Given the description of an element on the screen output the (x, y) to click on. 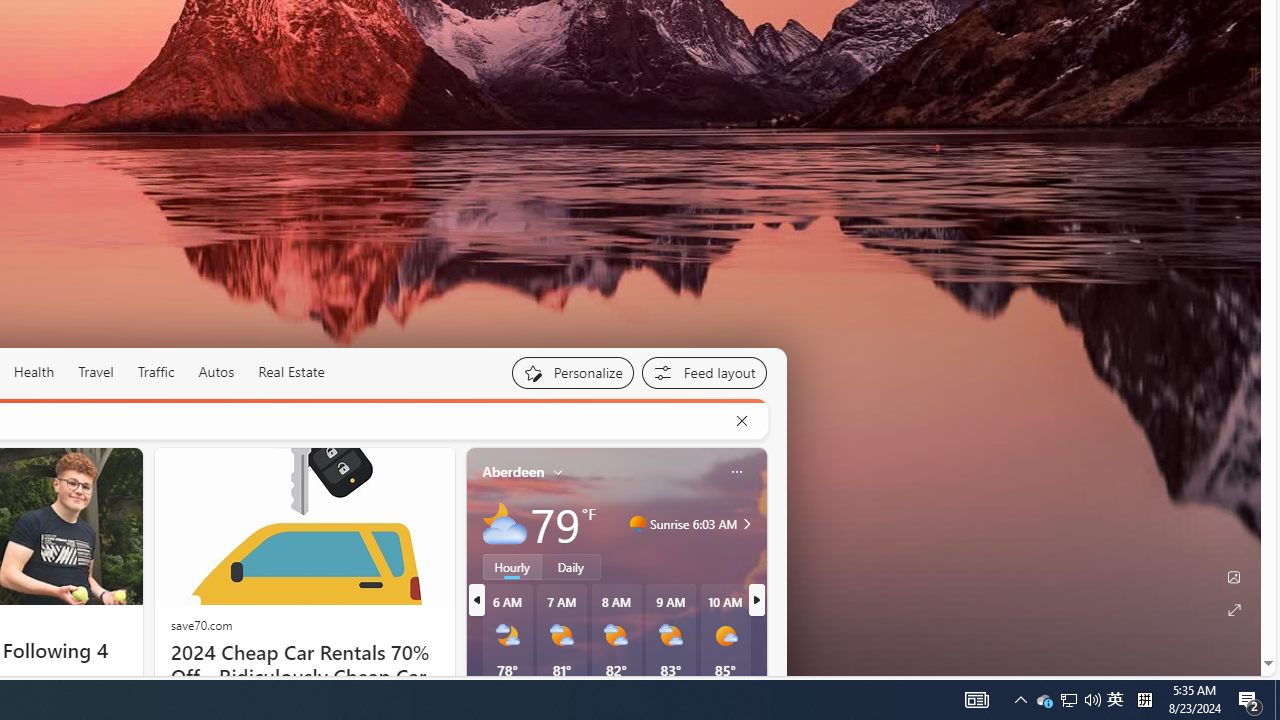
Mostly cloudy (504, 523)
Expand background (1233, 610)
Class: icon-img (736, 471)
previous (476, 599)
Edit Background (1233, 577)
next (756, 599)
Personalize your feed" (571, 372)
